Given the description of an element on the screen output the (x, y) to click on. 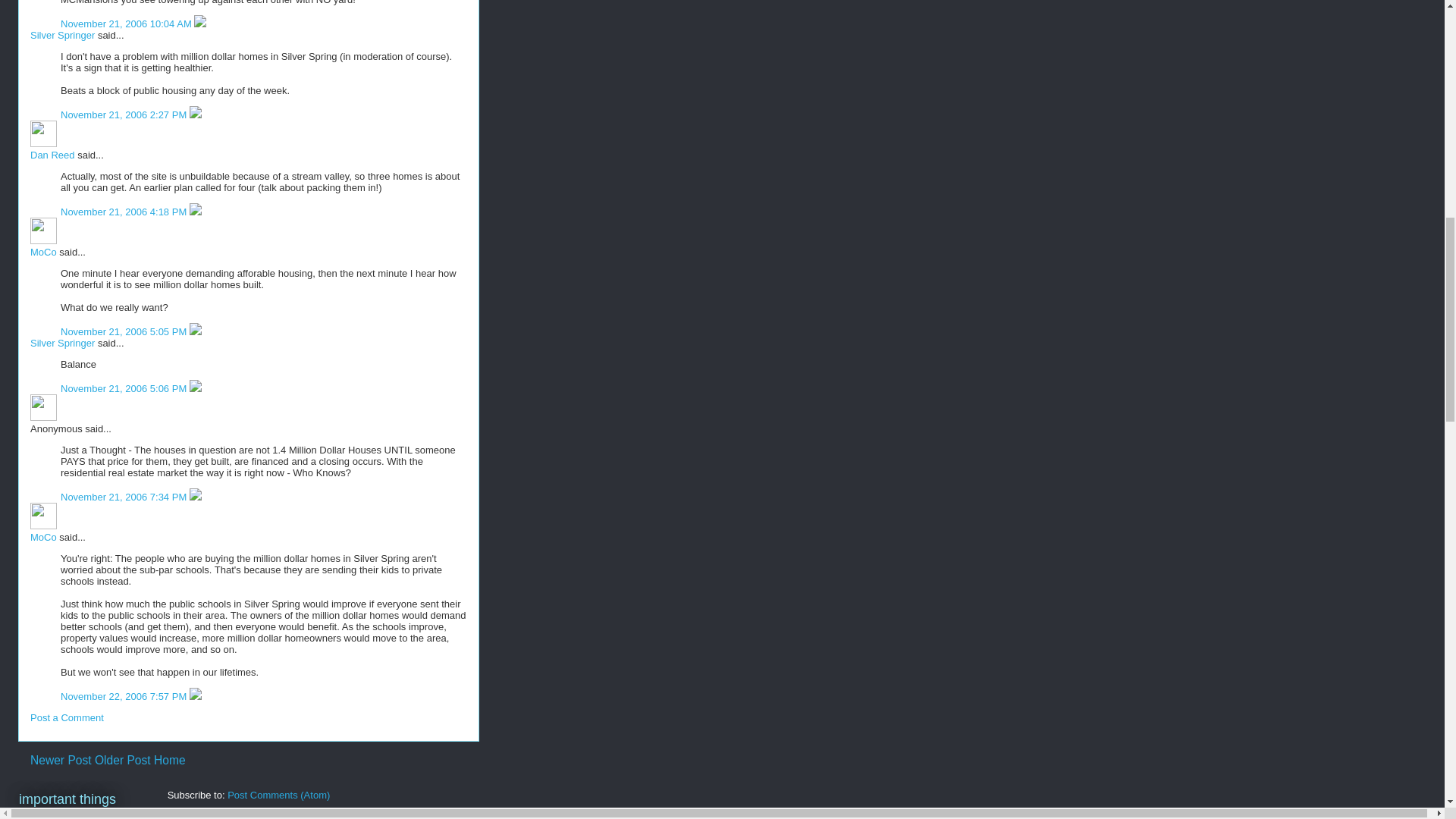
November 21, 2006 10:04 AM (127, 23)
November 21, 2006 5:05 PM (125, 331)
Delete Comment (195, 114)
Dan Reed (43, 133)
Silver Springer (62, 34)
MoCo (43, 251)
comment permalink (125, 331)
comment permalink (127, 23)
comment permalink (125, 114)
Silver Springer (62, 342)
November 21, 2006 2:27 PM (125, 114)
Dan Reed (52, 154)
November 21, 2006 5:06 PM (125, 388)
November 21, 2006 4:18 PM (125, 211)
Delete Comment (199, 23)
